Given the description of an element on the screen output the (x, y) to click on. 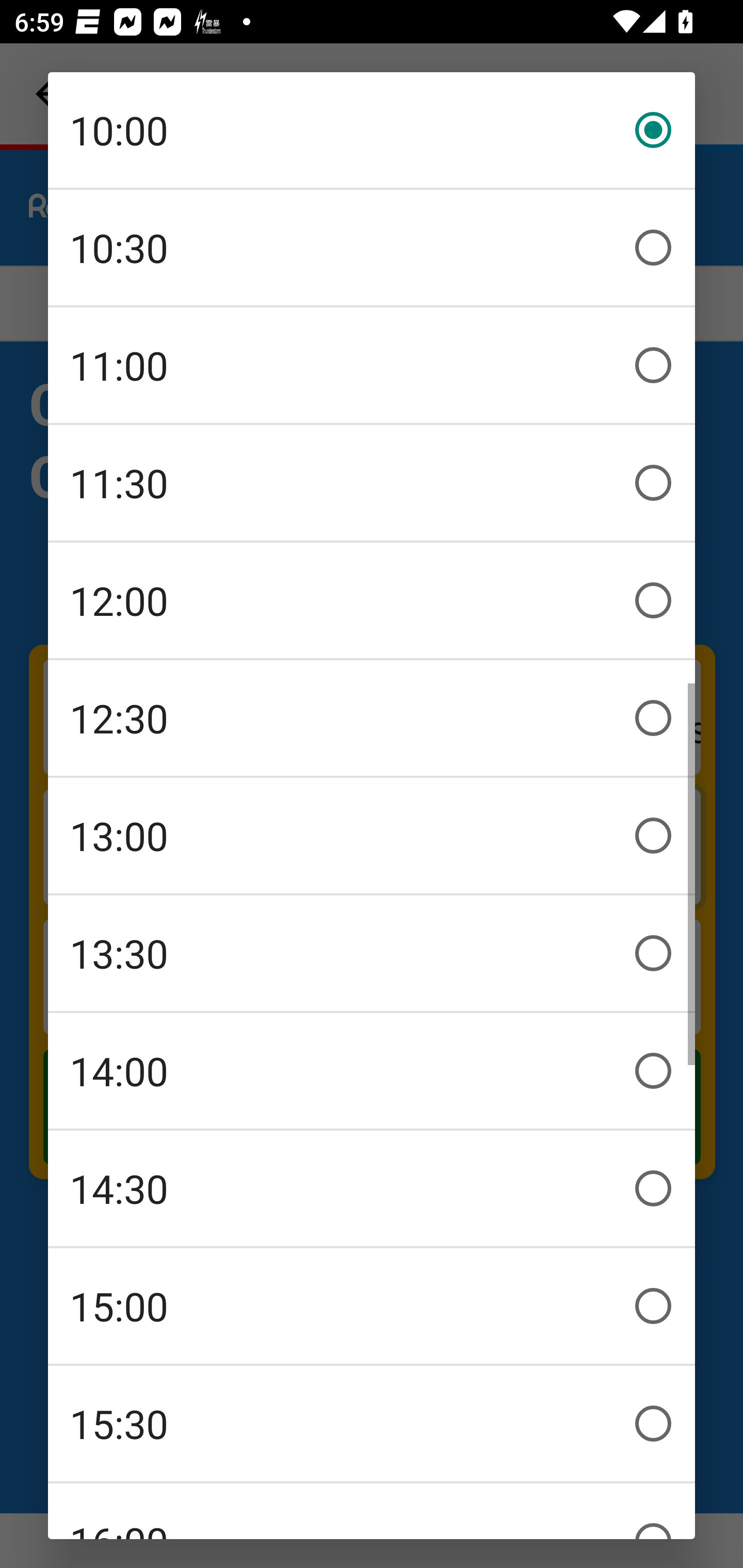
10:00 (371, 130)
10:30 (371, 247)
11:00 (371, 365)
11:30 (371, 482)
12:00 (371, 600)
12:30 (371, 718)
13:00 (371, 835)
13:30 (371, 953)
14:00 (371, 1070)
14:30 (371, 1188)
15:00 (371, 1306)
15:30 (371, 1423)
